Given the description of an element on the screen output the (x, y) to click on. 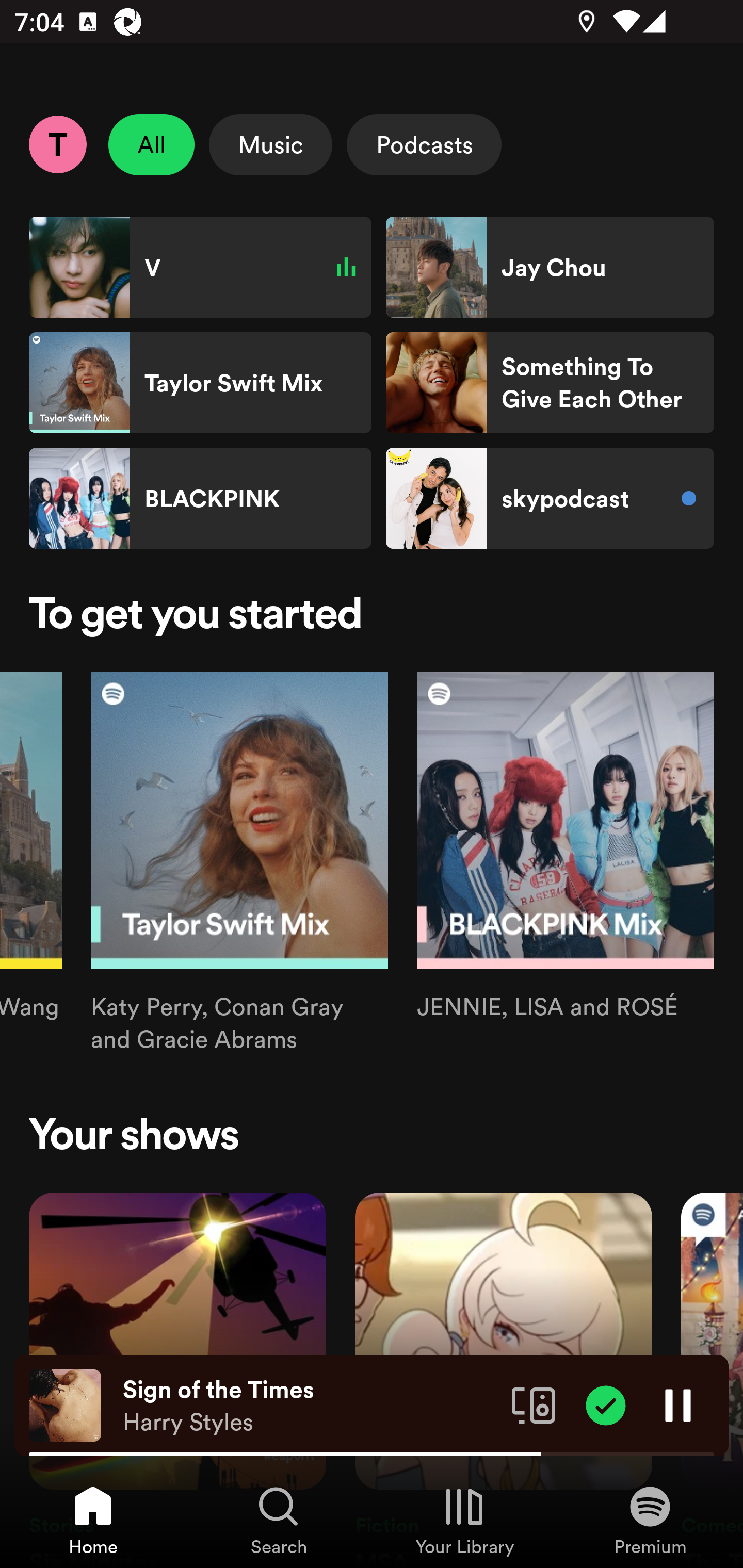
Profile (57, 144)
All Unselect All (151, 144)
Music Select Music (270, 144)
Podcasts Select Podcasts (423, 144)
V Shortcut V Playing (199, 267)
Jay Chou Shortcut Jay Chou (549, 267)
Taylor Swift Mix Shortcut Taylor Swift Mix (199, 382)
BLACKPINK Shortcut BLACKPINK (199, 498)
skypodcast Shortcut skypodcast New content (549, 498)
Sign of the Times Harry Styles (309, 1405)
The cover art of the currently playing track (64, 1404)
Connect to a device. Opens the devices menu (533, 1404)
Item added (605, 1404)
Pause (677, 1404)
Home, Tab 1 of 4 Home Home (92, 1519)
Search, Tab 2 of 4 Search Search (278, 1519)
Your Library, Tab 3 of 4 Your Library Your Library (464, 1519)
Premium, Tab 4 of 4 Premium Premium (650, 1519)
